Given the description of an element on the screen output the (x, y) to click on. 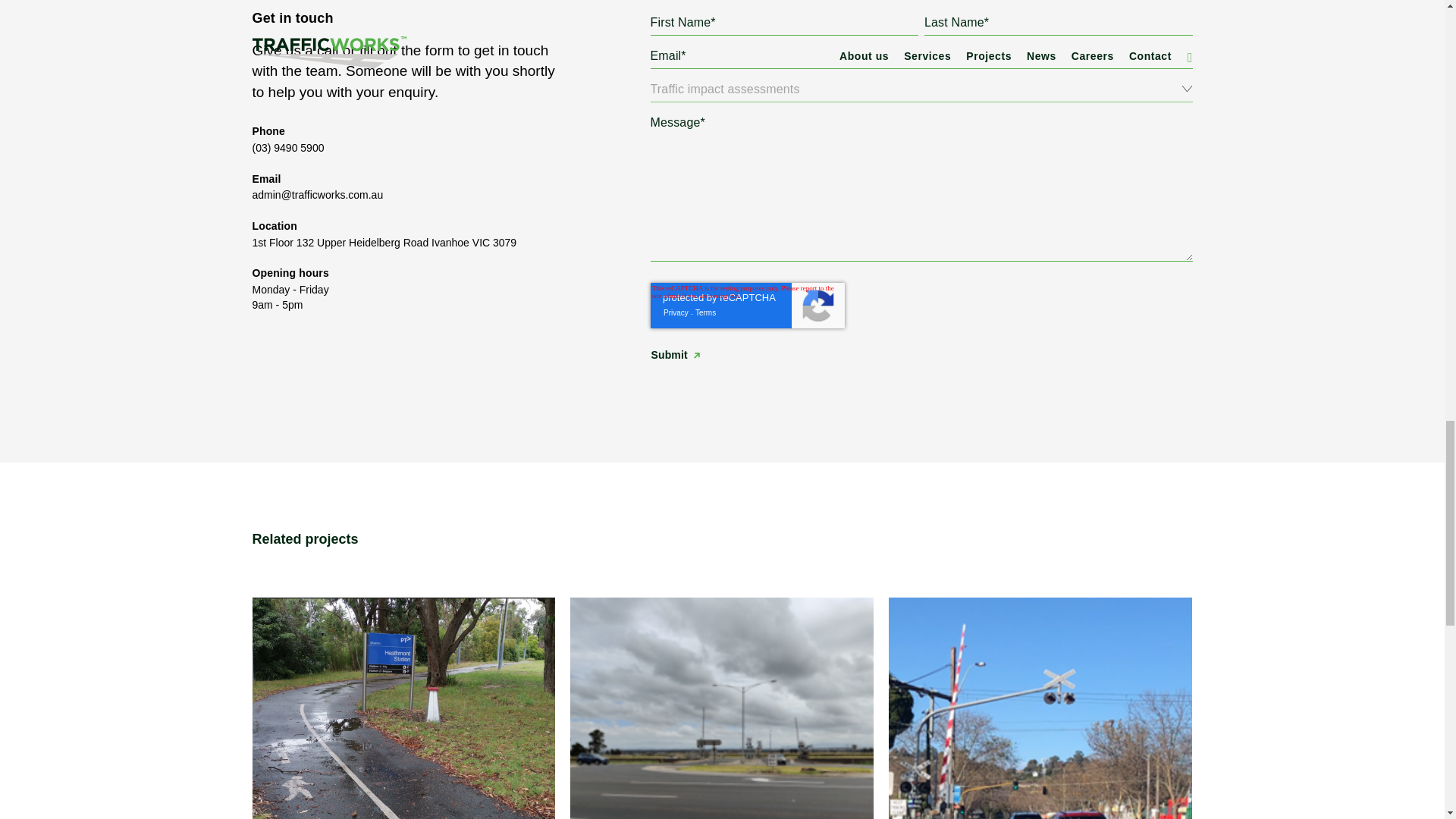
reCAPTCHA (747, 305)
1st Floor 132 Upper Heidelberg Road Ivanhoe VIC 3079 (383, 242)
Submit (675, 355)
Submit (675, 355)
